Given the description of an element on the screen output the (x, y) to click on. 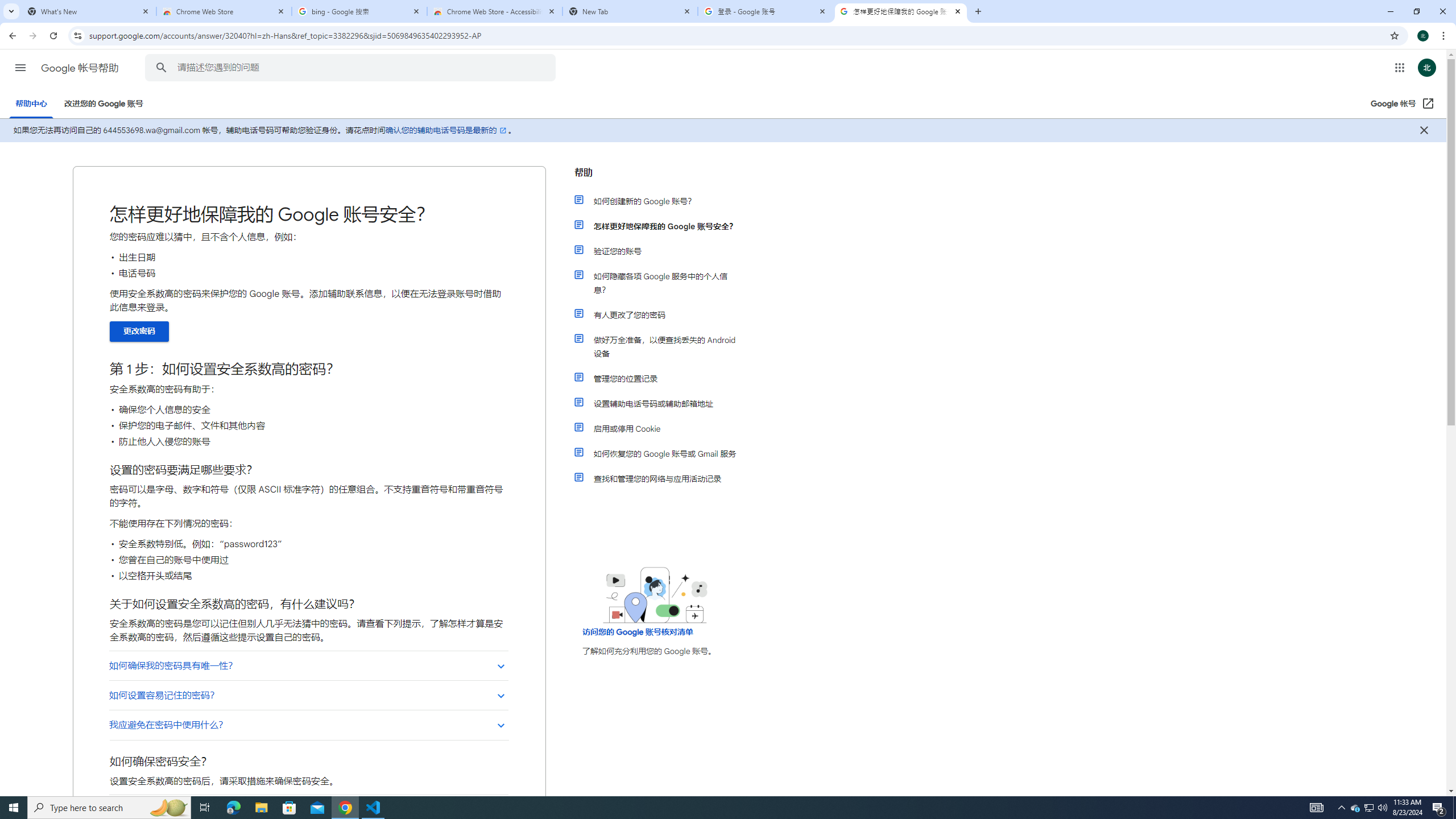
Chrome Web Store (224, 11)
Chrome Web Store - Accessibility (494, 11)
What's New (88, 11)
